Given the description of an element on the screen output the (x, y) to click on. 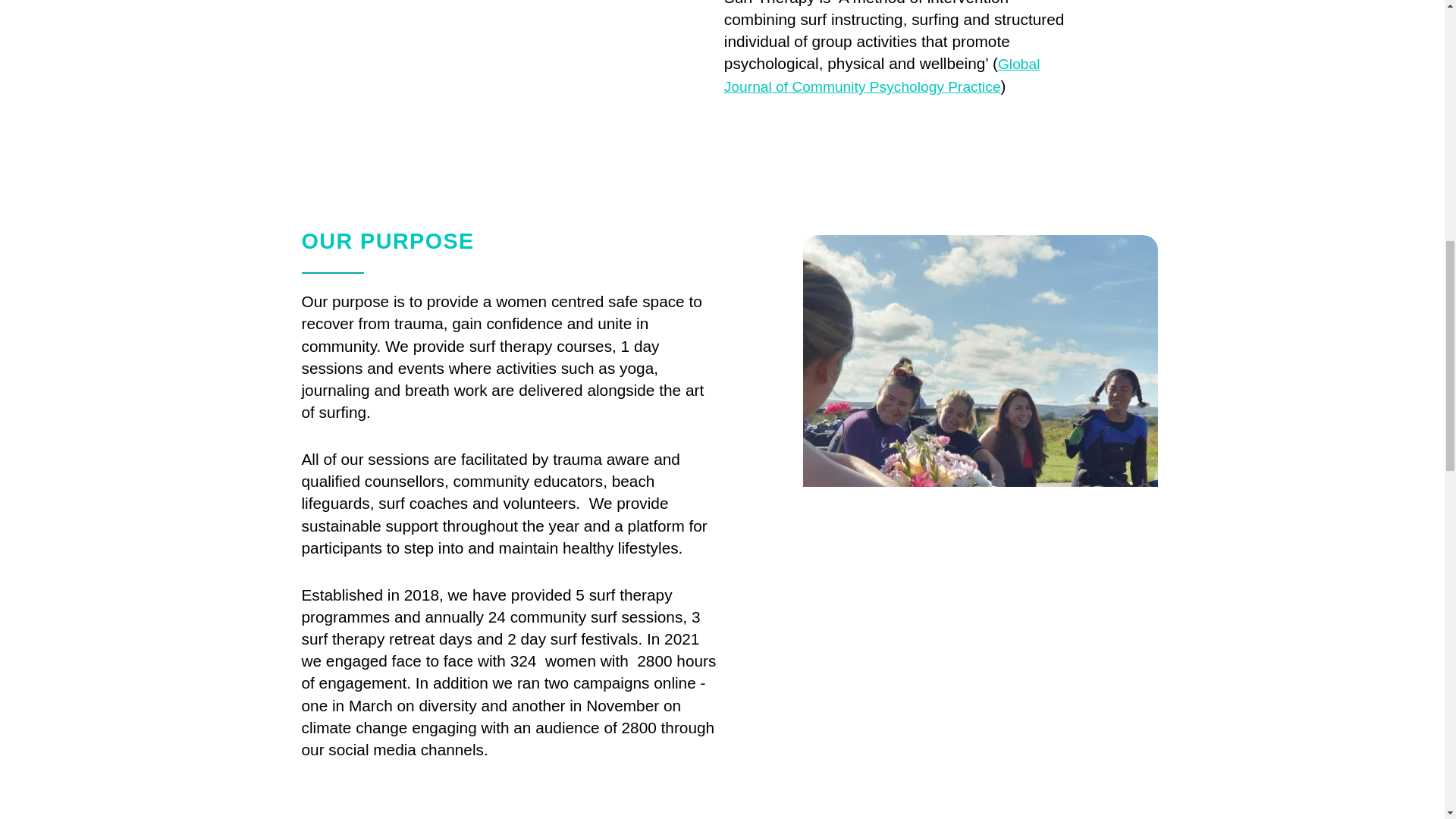
Global Journal of Community Psychology Practice (882, 75)
